Given the description of an element on the screen output the (x, y) to click on. 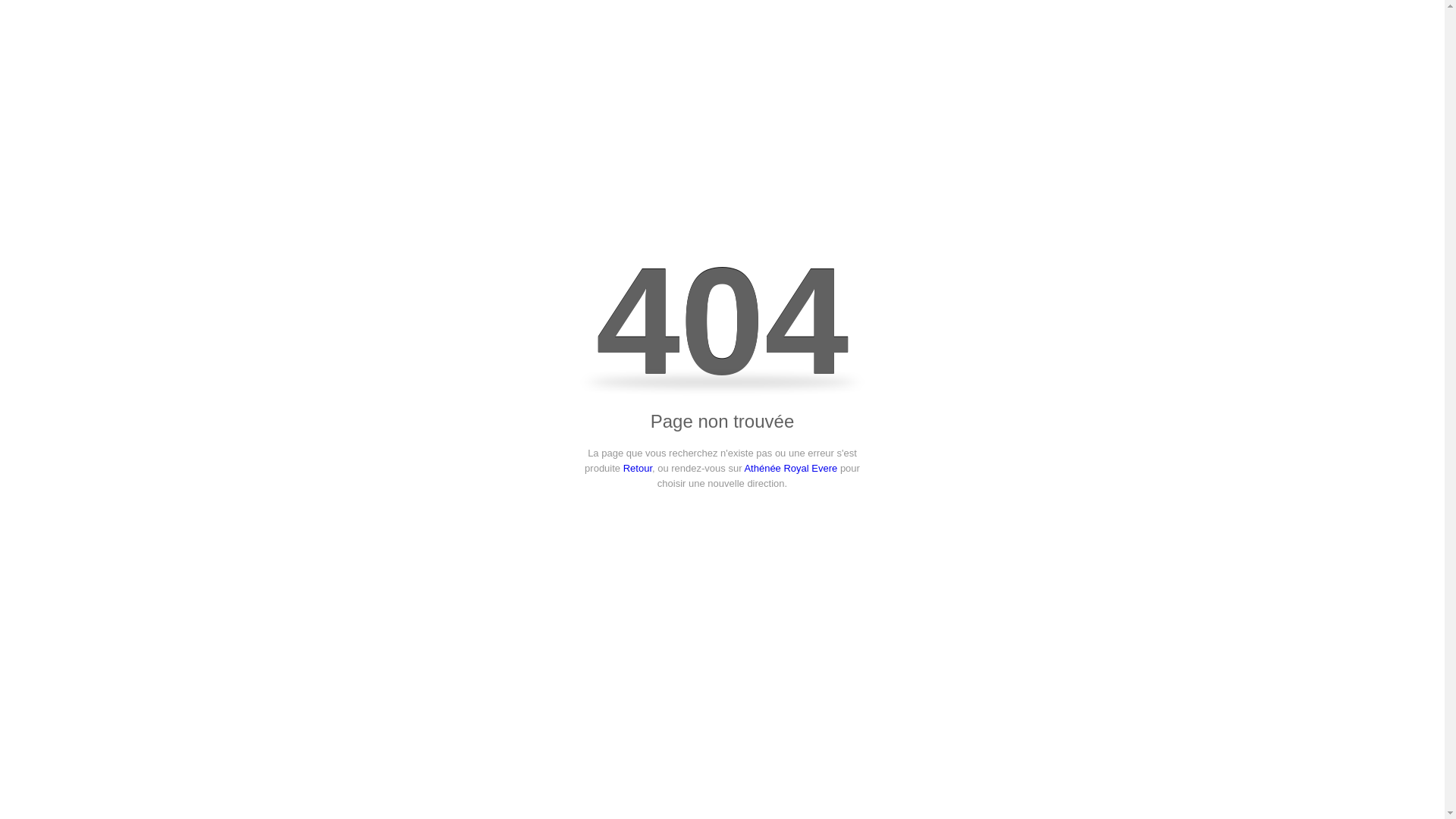
Retour Element type: text (637, 467)
